Given the description of an element on the screen output the (x, y) to click on. 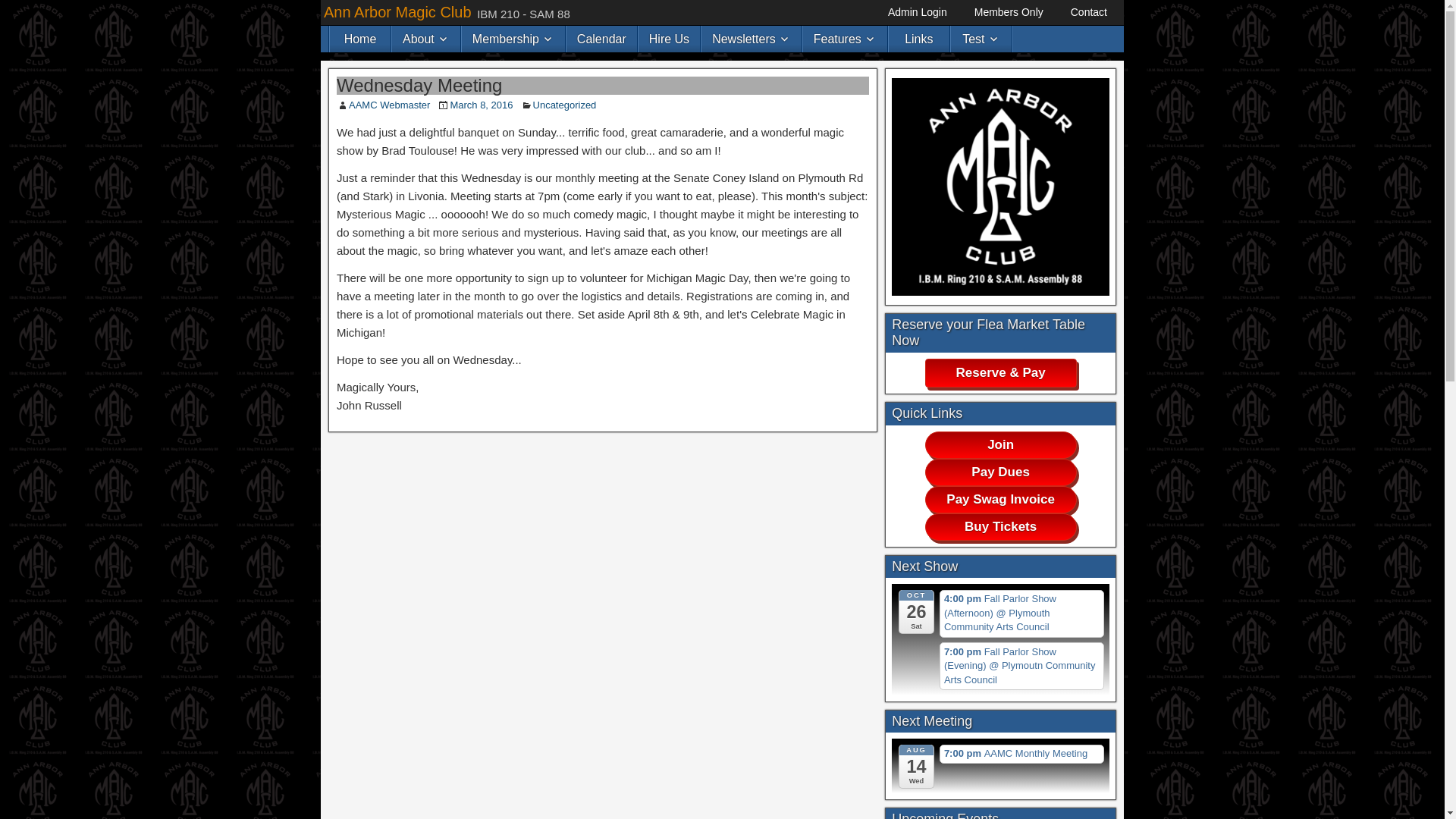
About (425, 38)
Home (360, 38)
Calendar (601, 38)
Newsletters (751, 38)
Ann Arbor Magic Club (397, 12)
Hire Us (669, 38)
Features (844, 38)
Membership (512, 38)
Admin Login (917, 12)
Members Only (1008, 12)
